Given the description of an element on the screen output the (x, y) to click on. 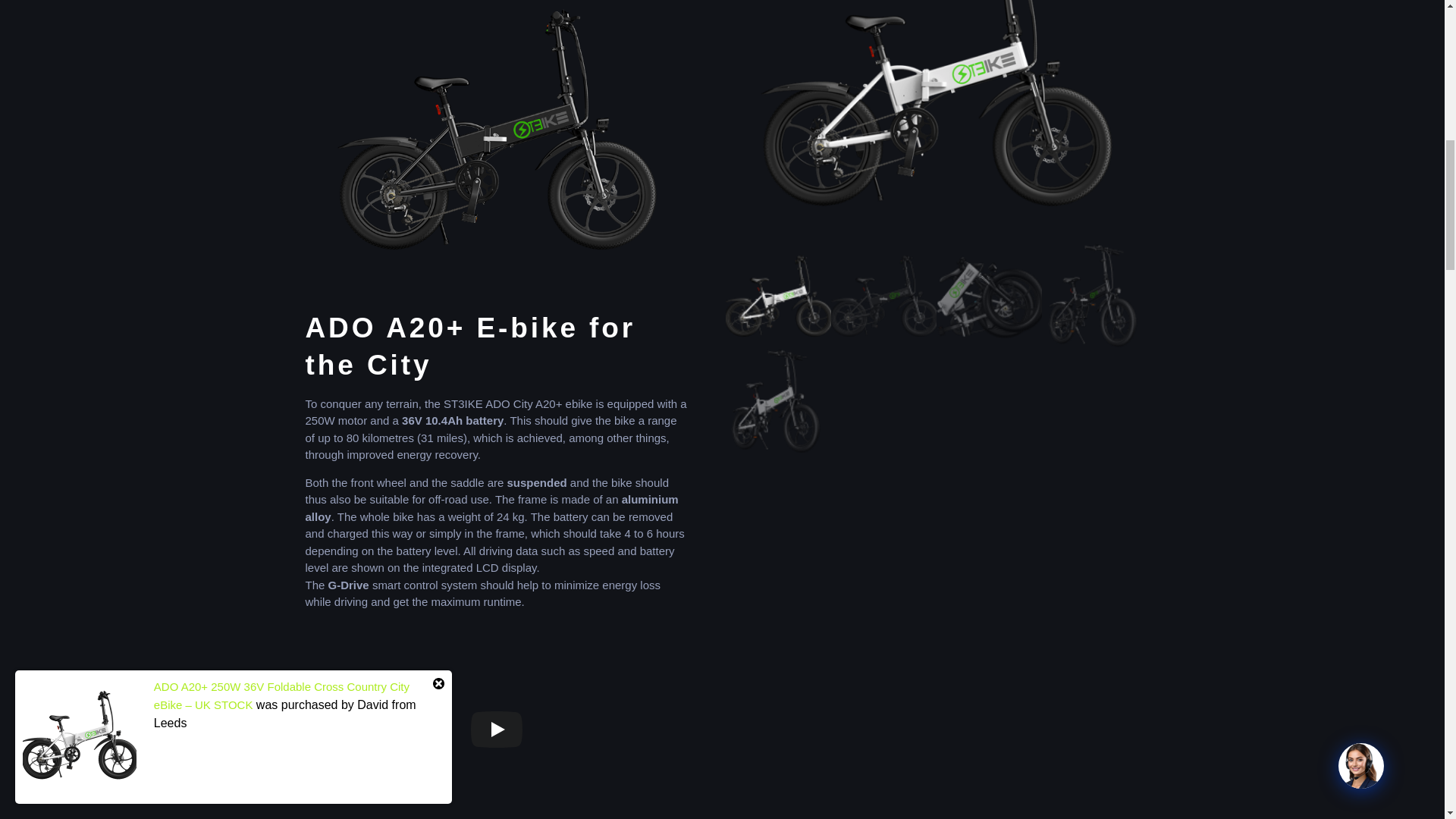
a20-white1-min (936, 121)
